Given the description of an element on the screen output the (x, y) to click on. 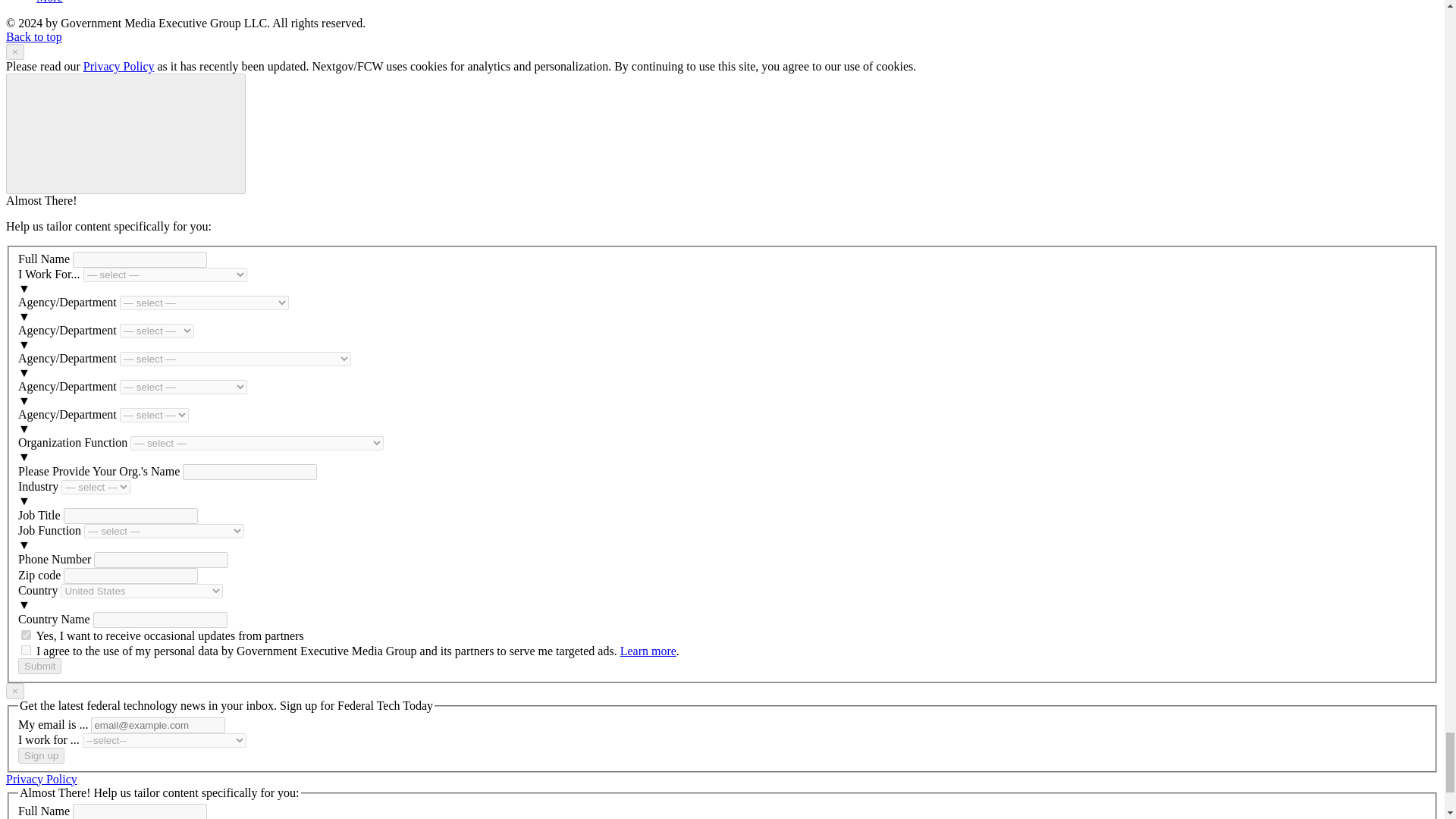
on (25, 650)
Submit (39, 666)
on (25, 634)
